Given the description of an element on the screen output the (x, y) to click on. 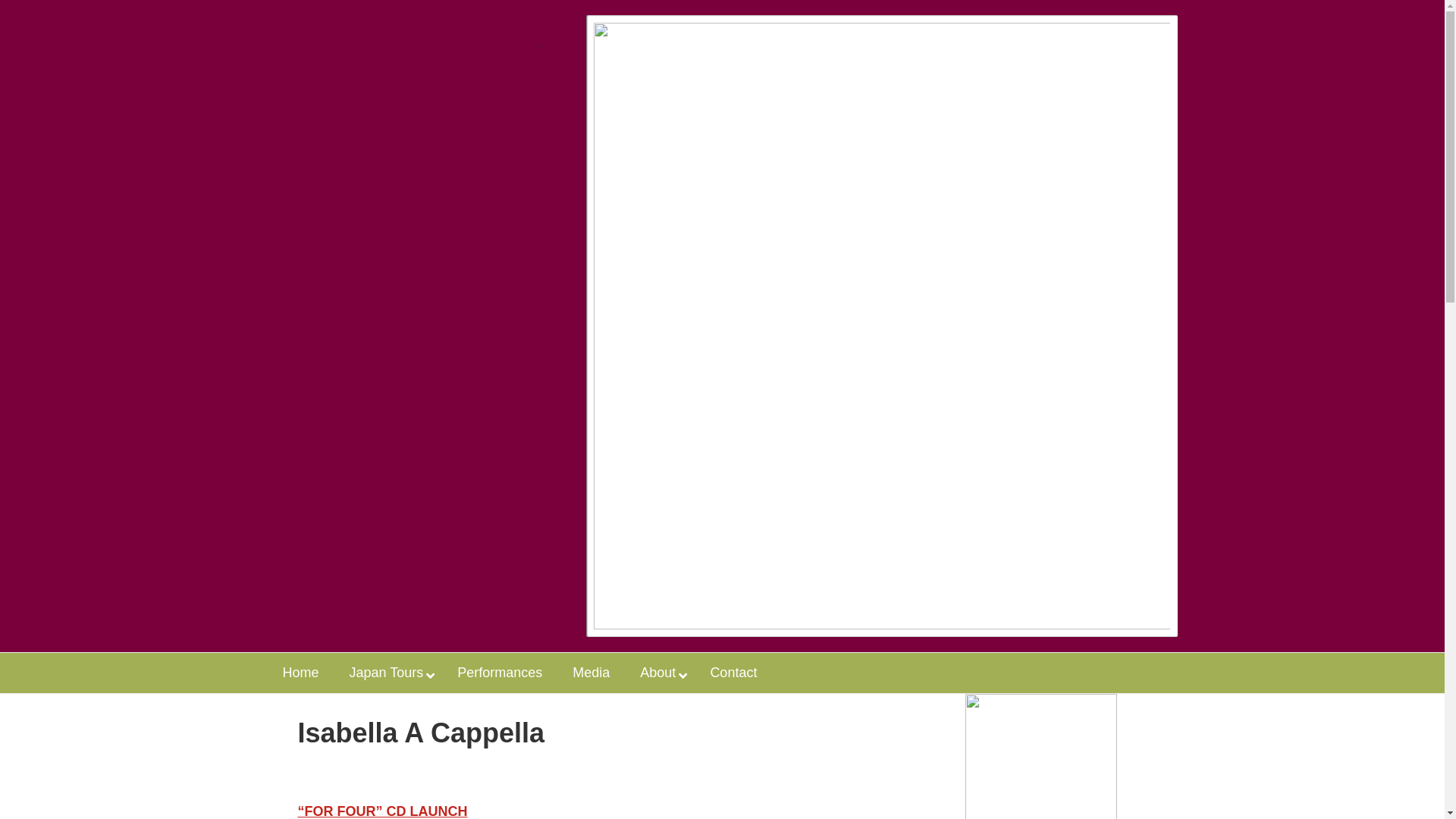
Japan Tours Element type: text (388, 672)
Isabella Acappella Element type: text (402, 75)
Contact Element type: text (732, 672)
Media Element type: text (590, 672)
Home Element type: text (299, 672)
About Element type: text (659, 672)
Performances Element type: text (499, 672)
